Given the description of an element on the screen output the (x, y) to click on. 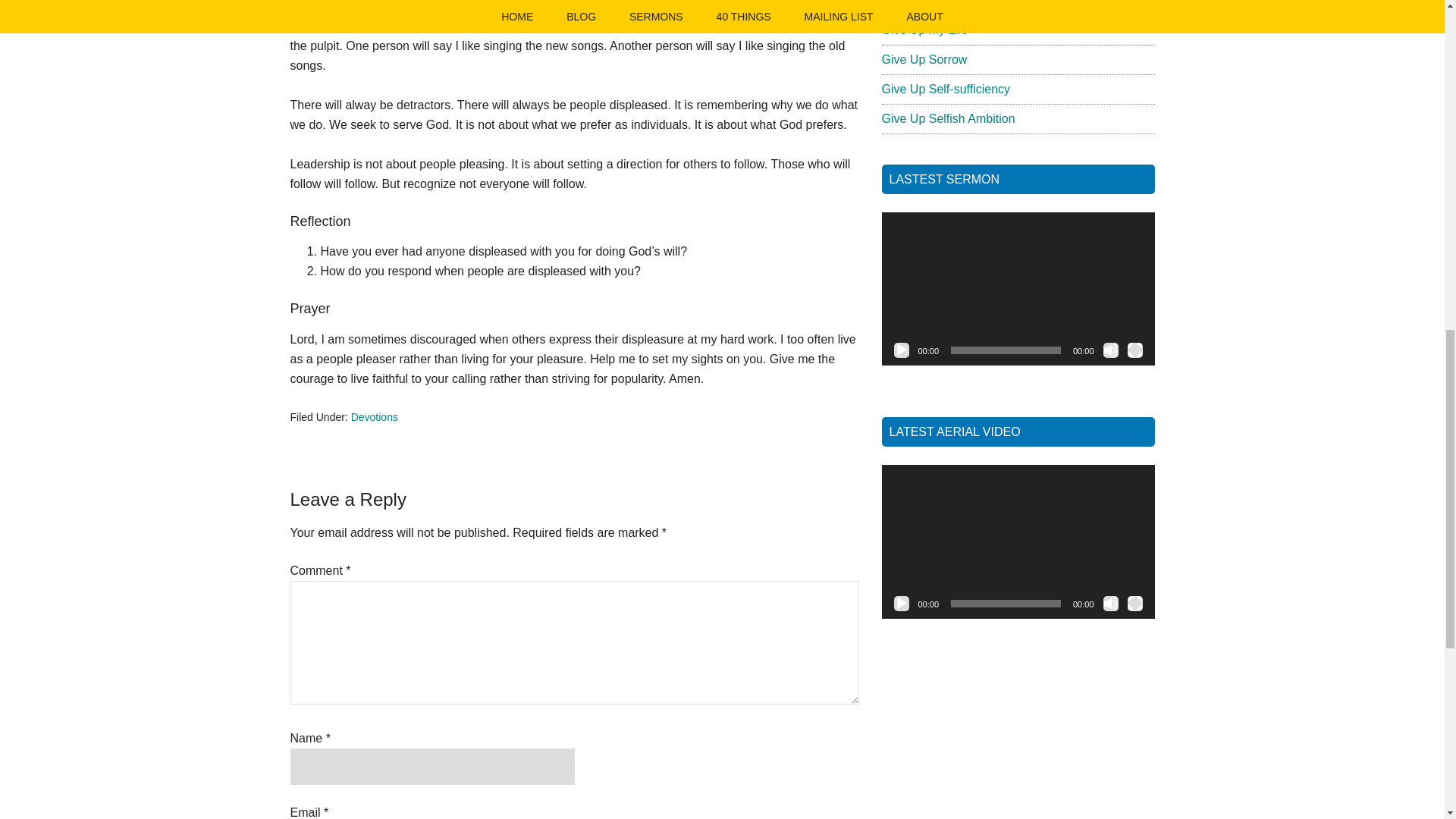
Play (900, 350)
Give Up Sorrow (923, 59)
7 Ways to Overcome Being Busy and Accomplishing Nothing (980, 3)
Give Up Selfish Ambition (947, 118)
Devotions (373, 417)
Play (900, 603)
Fullscreen (1133, 603)
Mute (1110, 350)
Give Up Self-sufficiency (945, 88)
Fullscreen (1133, 350)
